Given the description of an element on the screen output the (x, y) to click on. 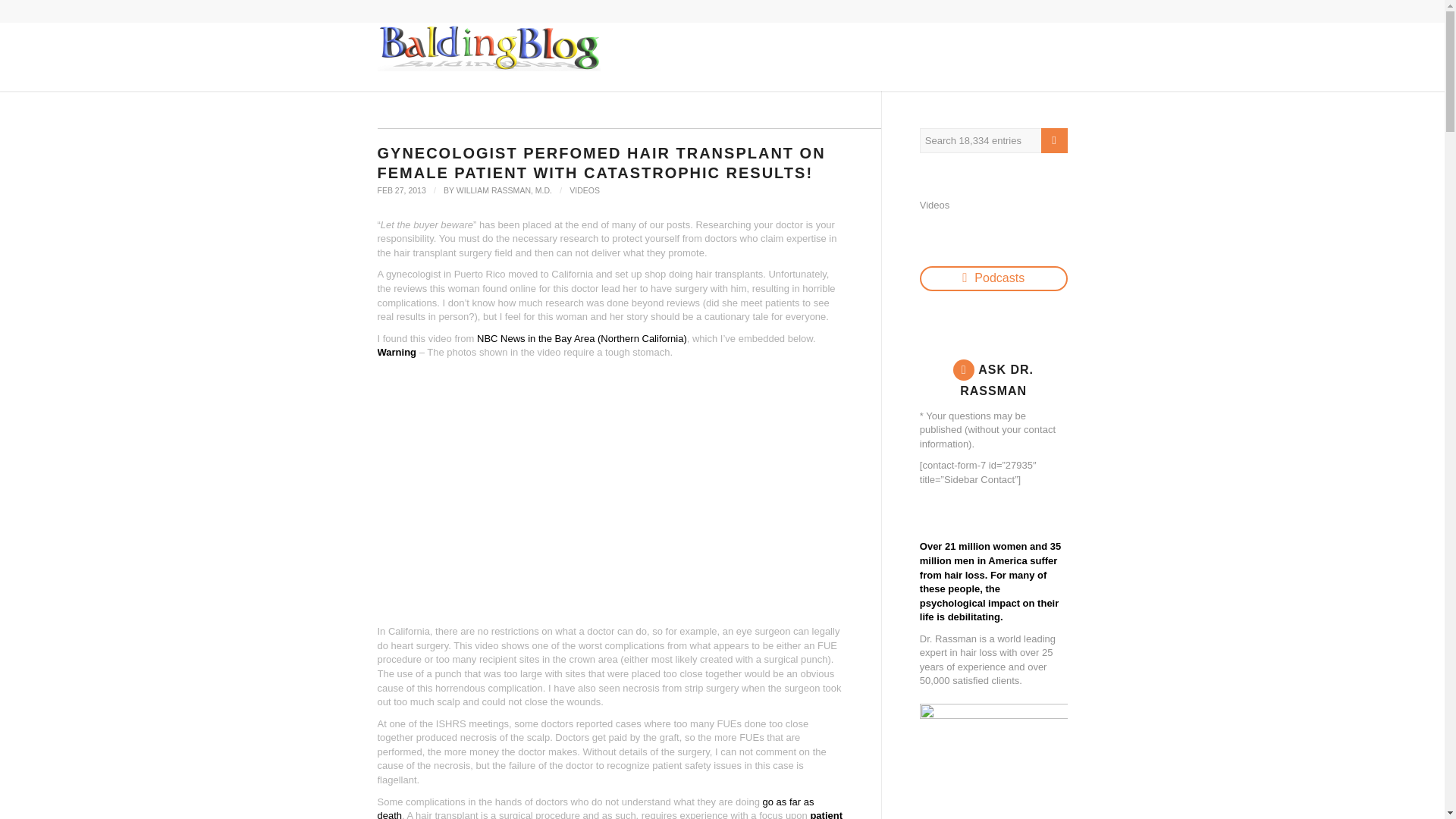
VIDEOS (584, 189)
go as far as death (595, 807)
Podcasts (993, 278)
WILLIAM RASSMAN, M.D. (504, 189)
